Given the description of an element on the screen output the (x, y) to click on. 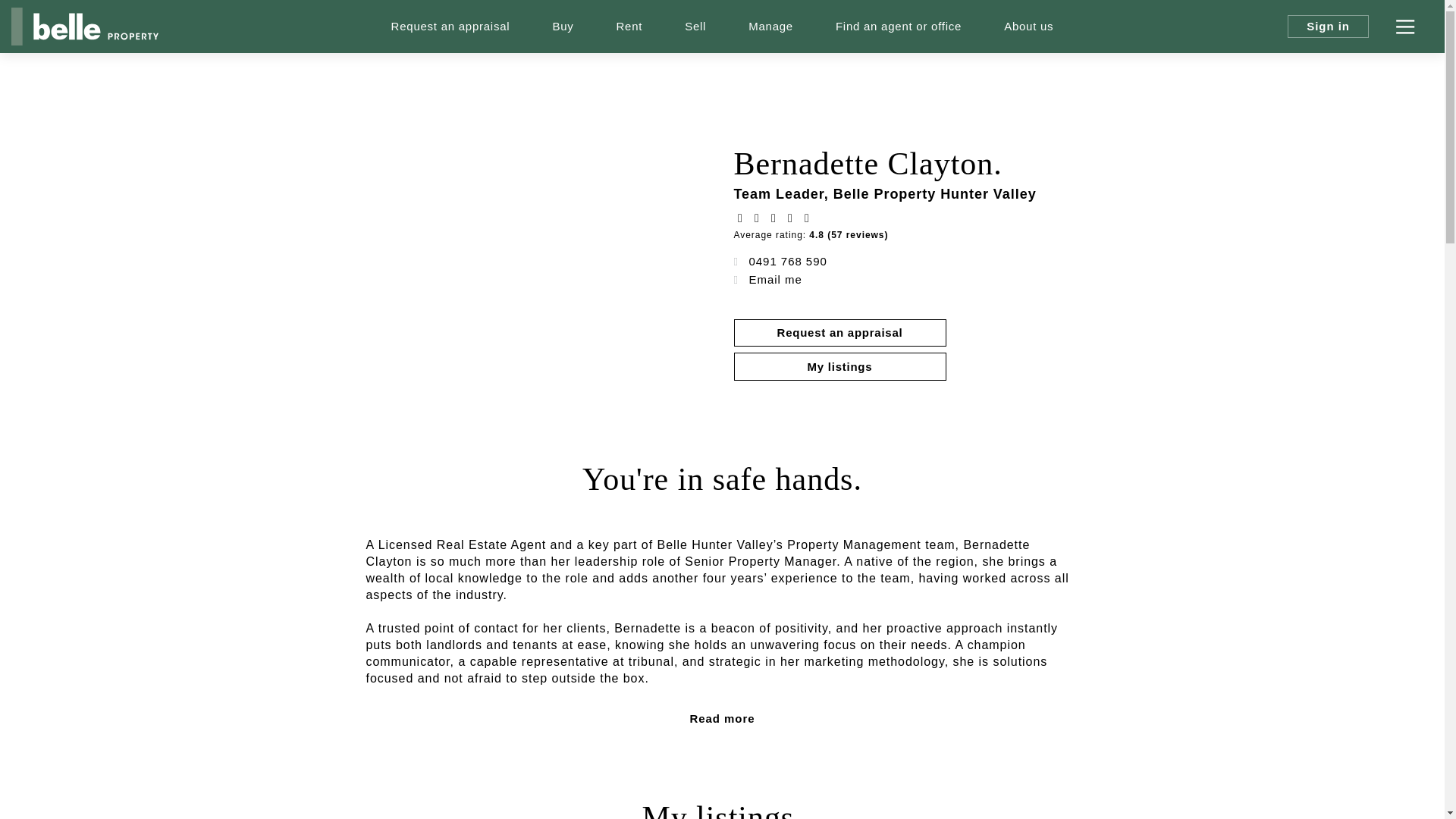
Manage (770, 26)
Sell (695, 26)
Buy (562, 26)
Rent (629, 26)
Request an appraisal (450, 26)
Find an agent or office (898, 26)
About us (1028, 26)
